Given the description of an element on the screen output the (x, y) to click on. 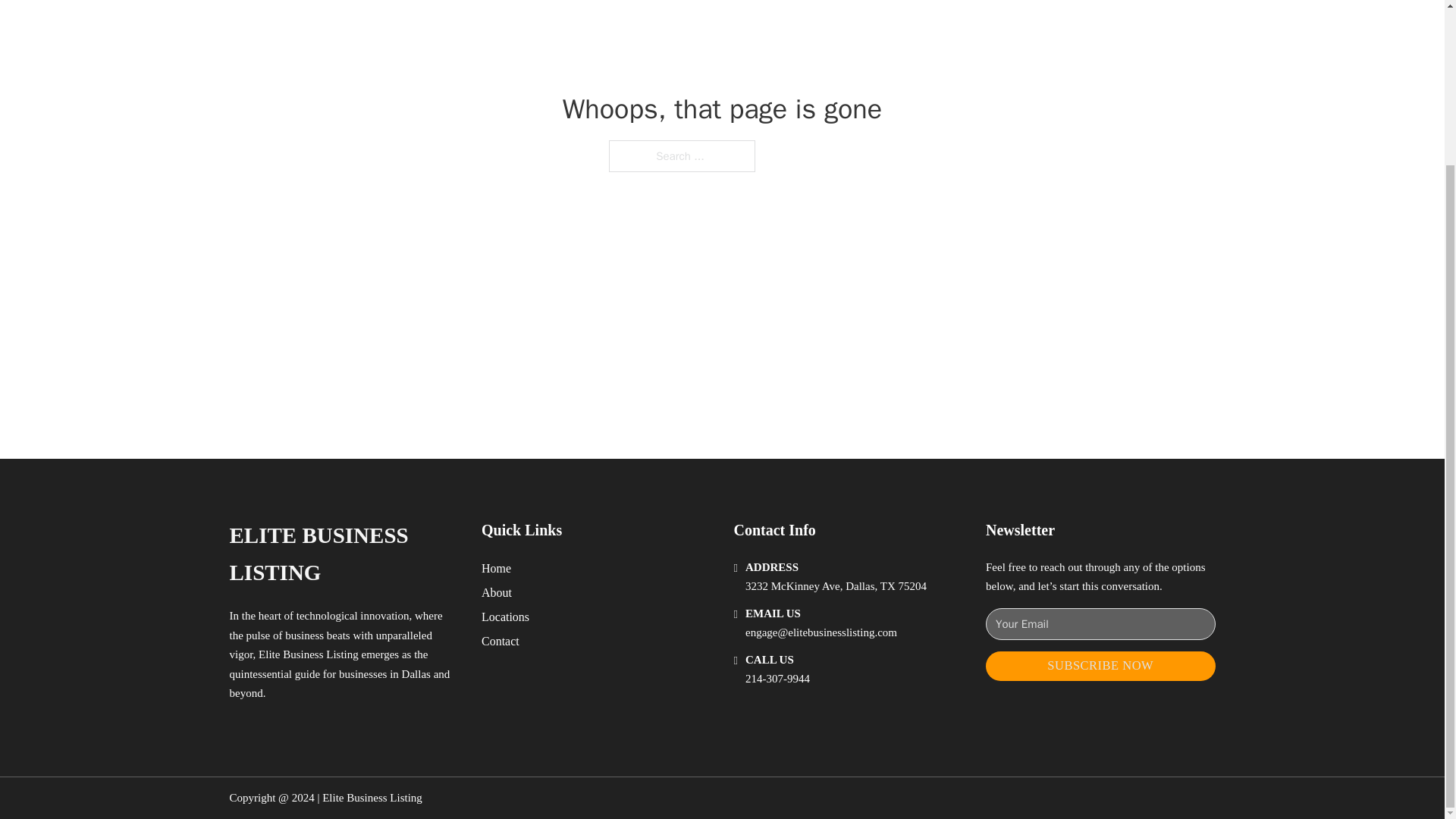
About (496, 592)
Locations (505, 616)
SUBSCRIBE NOW (1100, 665)
Home (496, 567)
ELITE BUSINESS LISTING (343, 554)
Contact (500, 640)
214-307-9944 (777, 678)
